Given the description of an element on the screen output the (x, y) to click on. 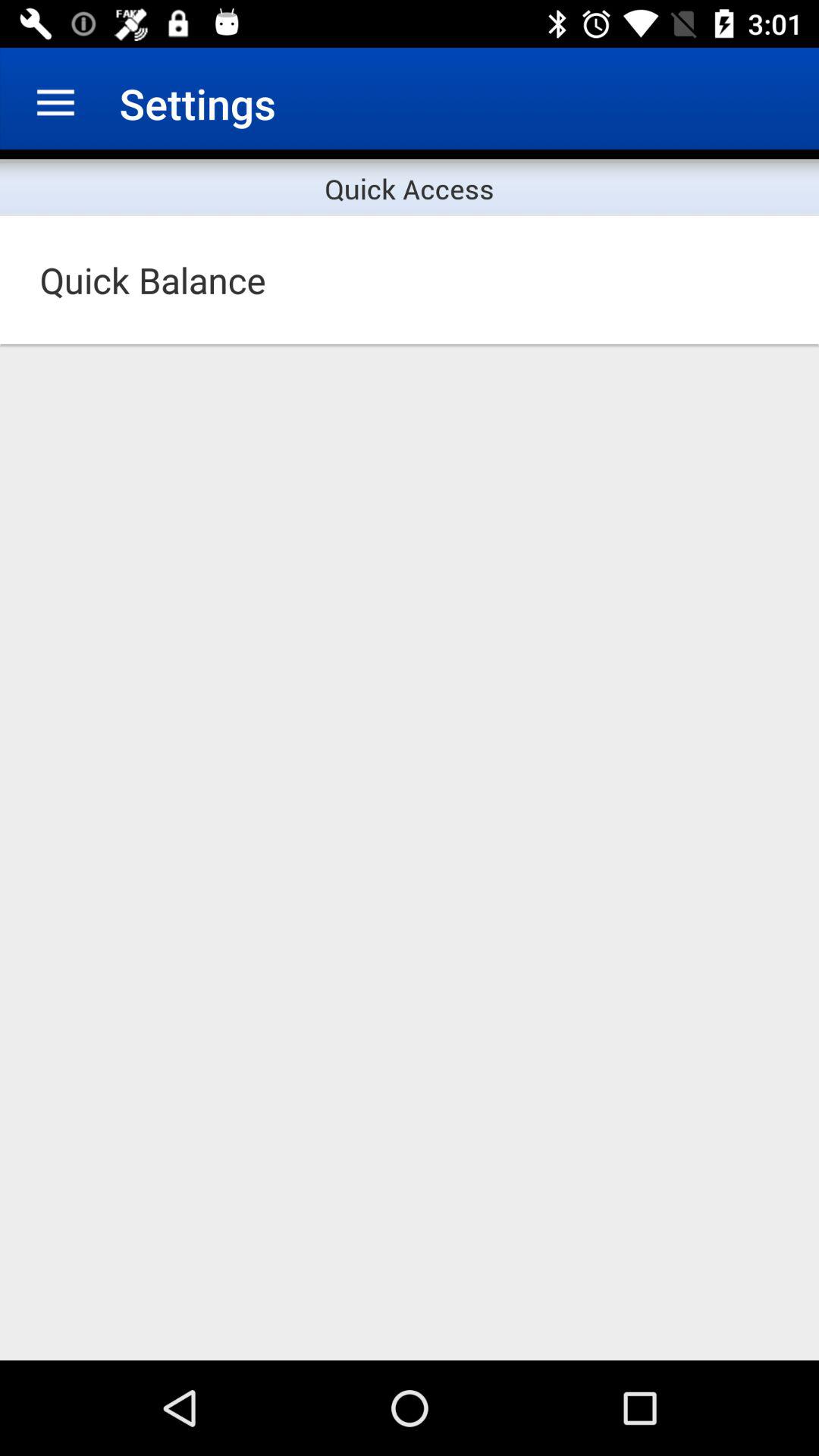
turn on the icon next to the settings item (55, 103)
